Given the description of an element on the screen output the (x, y) to click on. 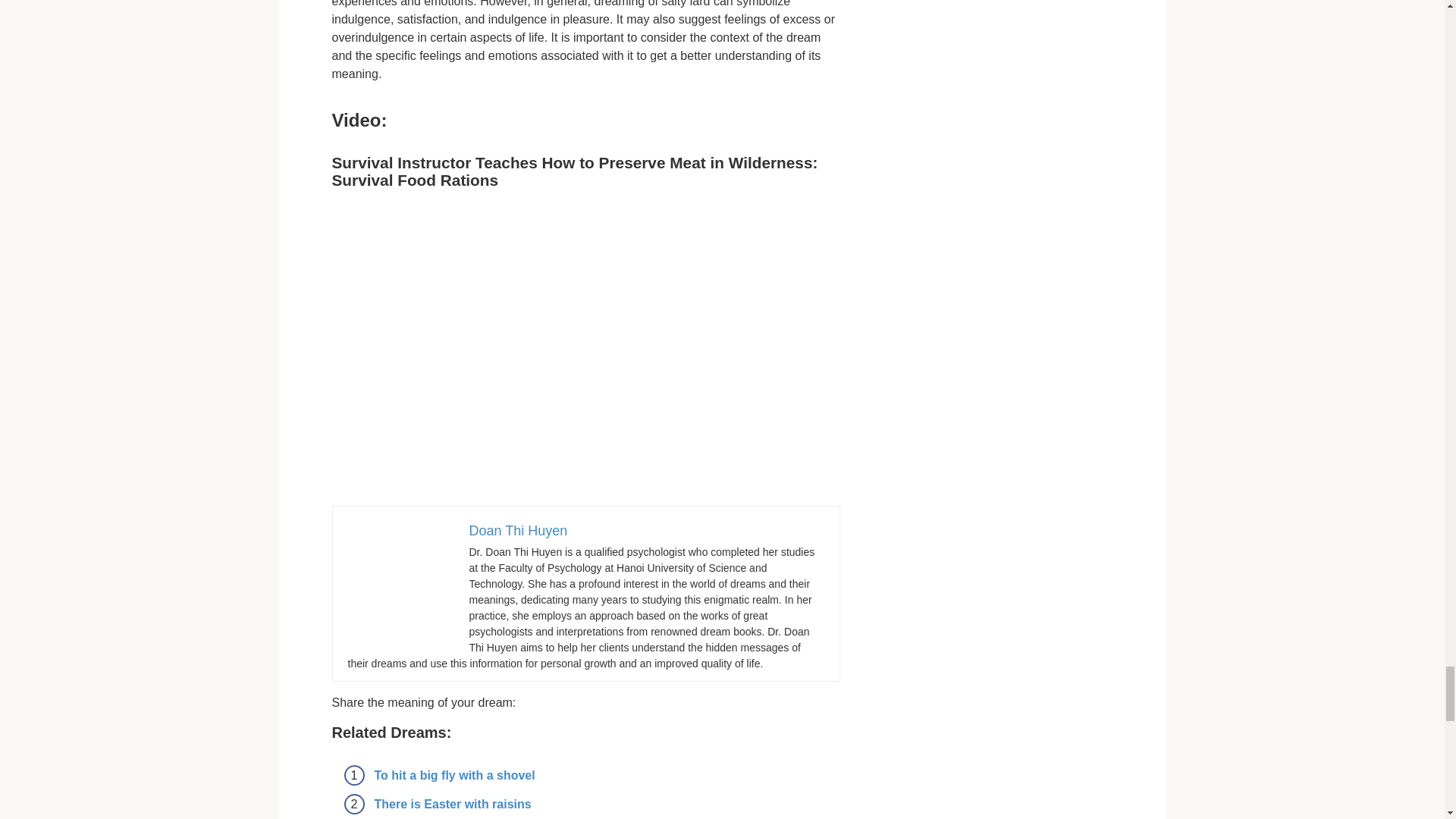
There is Easter with raisins (452, 803)
To hit a big fly with a shovel (454, 775)
